Given the description of an element on the screen output the (x, y) to click on. 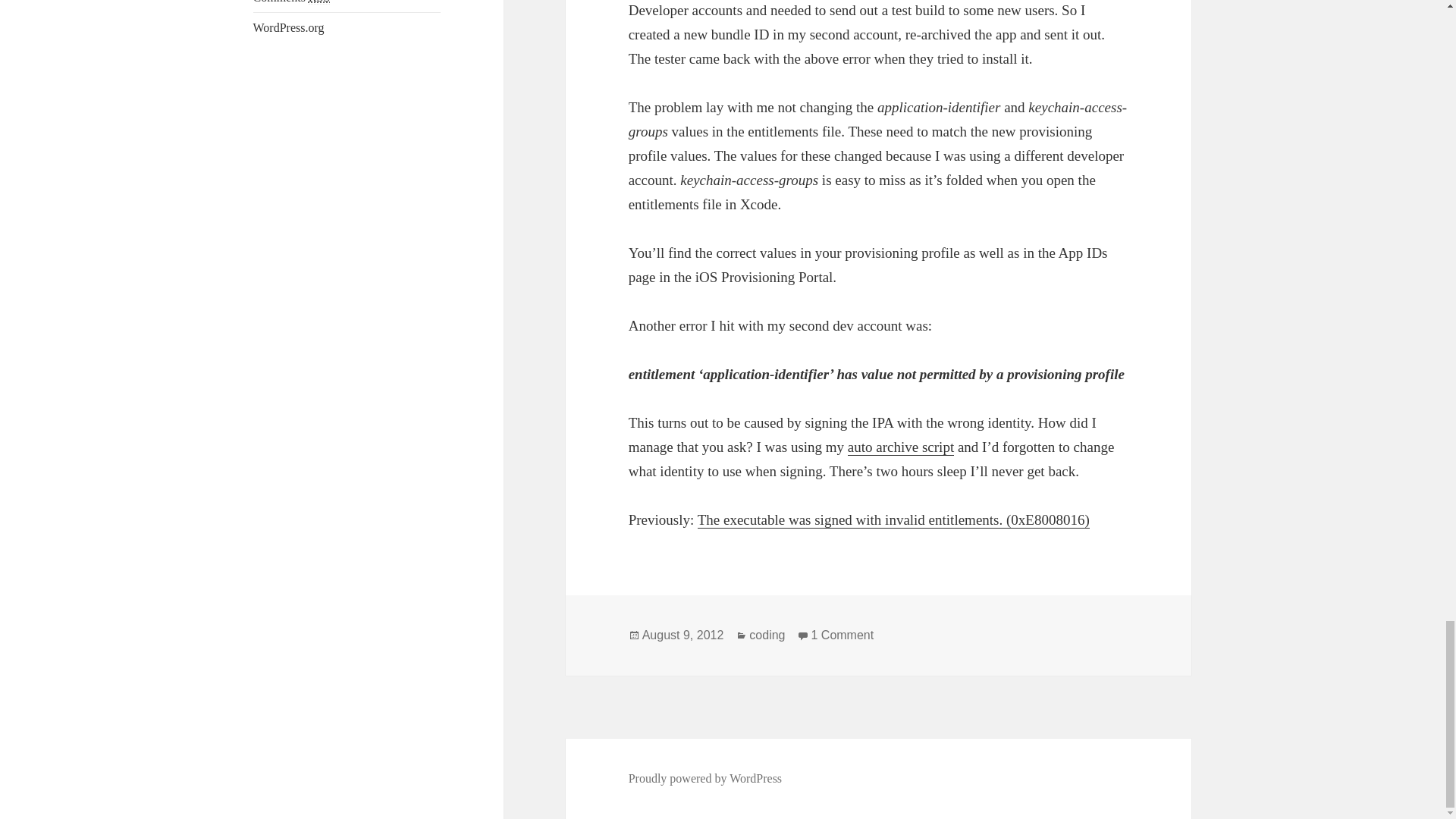
Really Simple Syndication (319, 2)
